Given the description of an element on the screen output the (x, y) to click on. 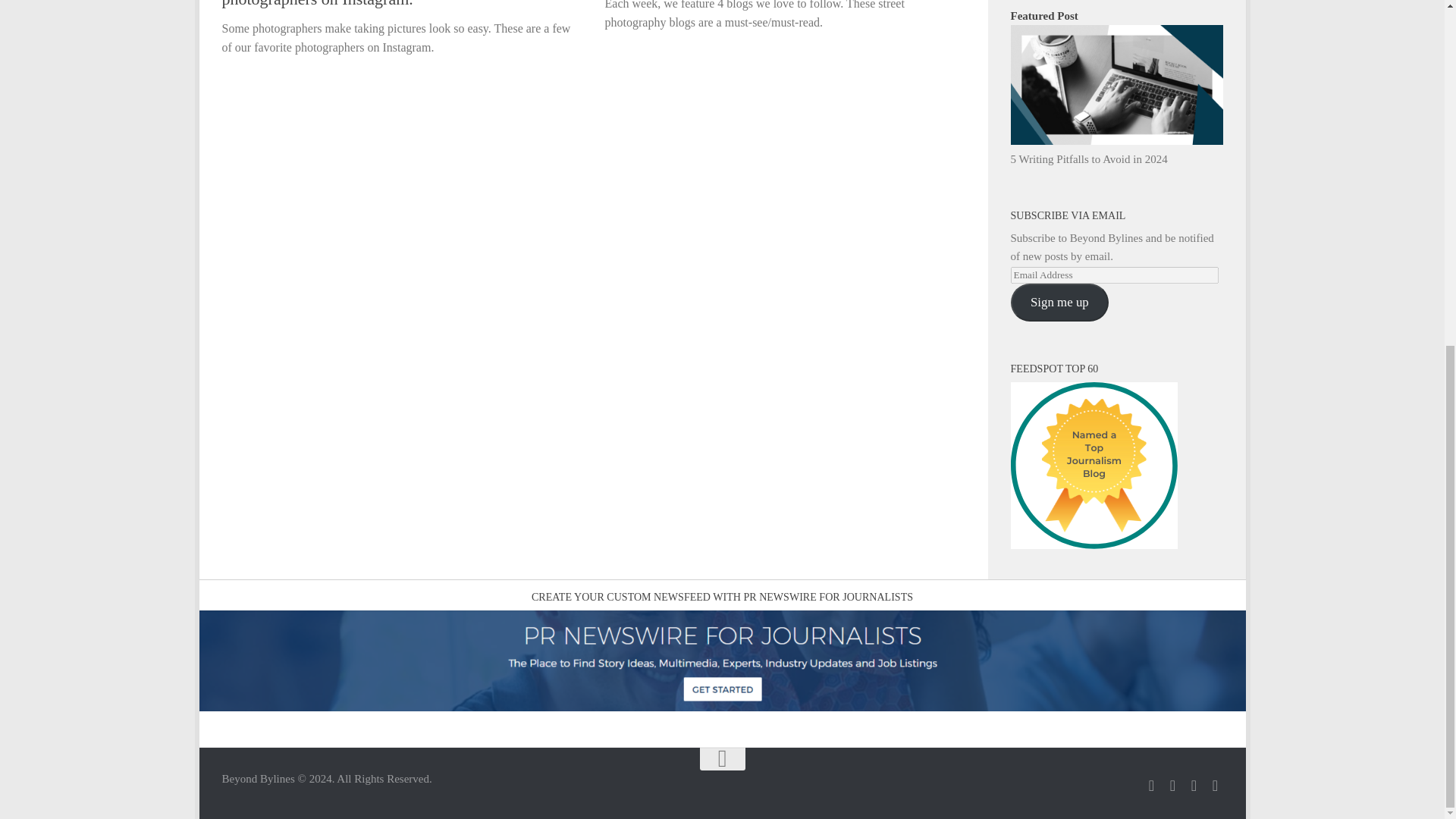
Follow us on Rss (1215, 785)
Follow us on Linkedin (1193, 785)
Follow us on Twitter (1150, 785)
Follow us on Facebook (1171, 785)
Feedspot-top-50 (1093, 465)
